Given the description of an element on the screen output the (x, y) to click on. 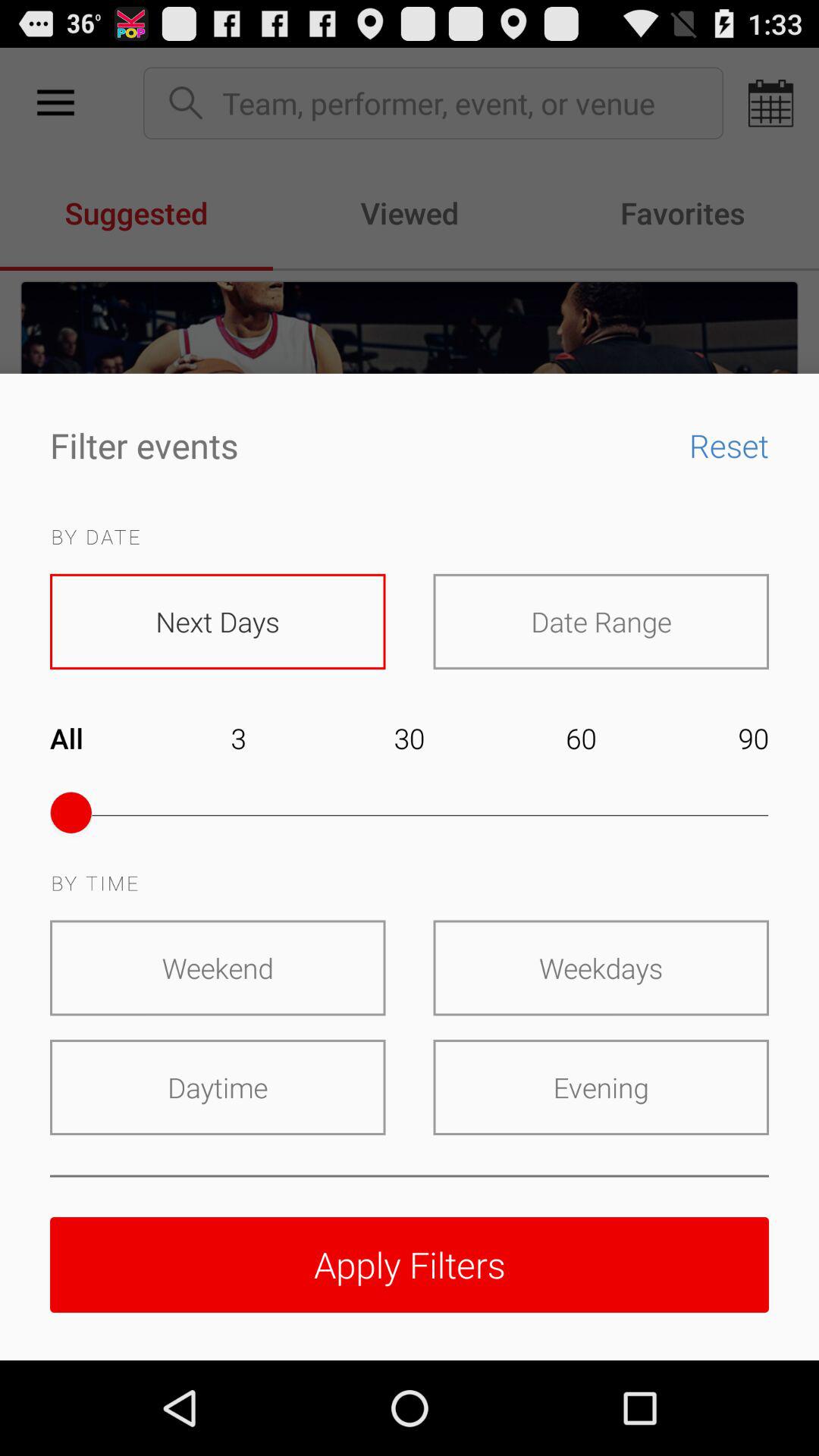
select weekdays (600, 967)
